Given the description of an element on the screen output the (x, y) to click on. 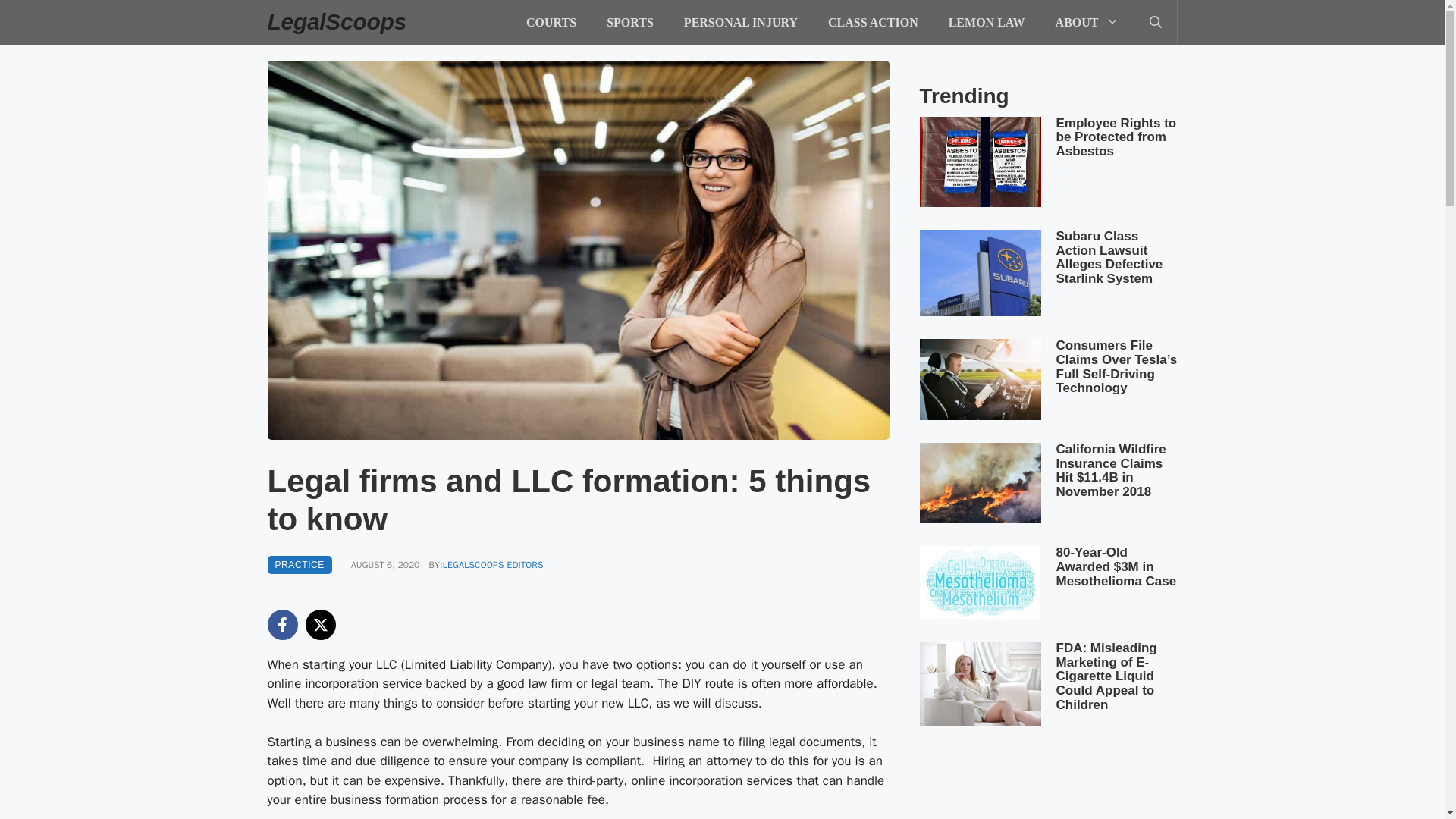
SPORTS (629, 22)
Employee Rights to be Protected from Asbestos (1115, 137)
PRACTICE (298, 565)
LEGALSCOOPS EDITORS (492, 564)
CLASS ACTION (872, 22)
ABOUT (1087, 22)
COURTS (551, 22)
LEMON LAW (987, 22)
PERSONAL INJURY (740, 22)
